Given the description of an element on the screen output the (x, y) to click on. 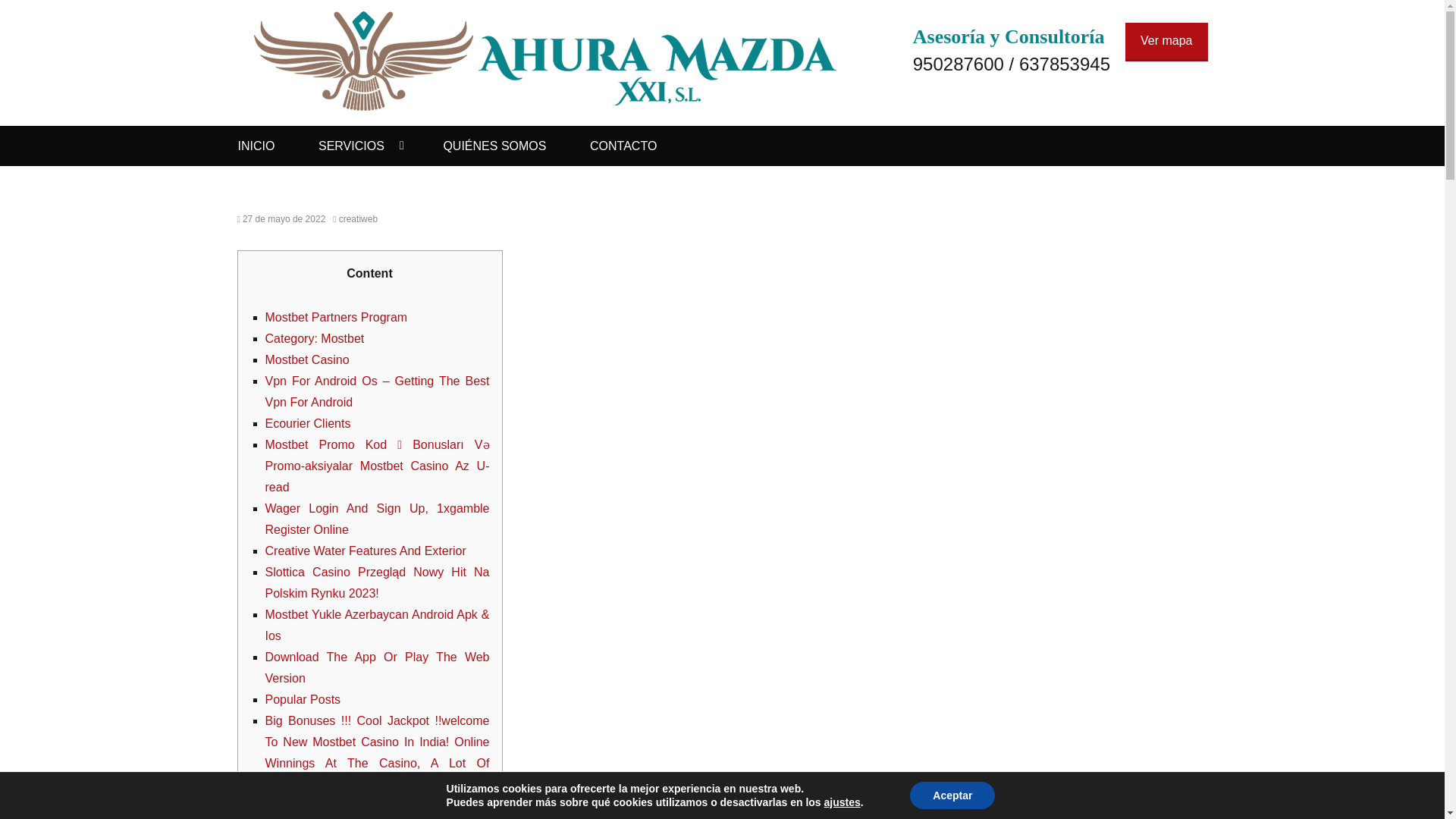
27 de mayo de 2022 (279, 218)
Download The App Or Play The Web Version (376, 667)
Ecourier Clients (307, 422)
AHURA MAZDA SL (386, 38)
CONTACTO (623, 146)
Category: Mostbet (314, 338)
Mostbet Casino (306, 359)
SERVICIOS (358, 146)
creatiweb (355, 218)
